Given the description of an element on the screen output the (x, y) to click on. 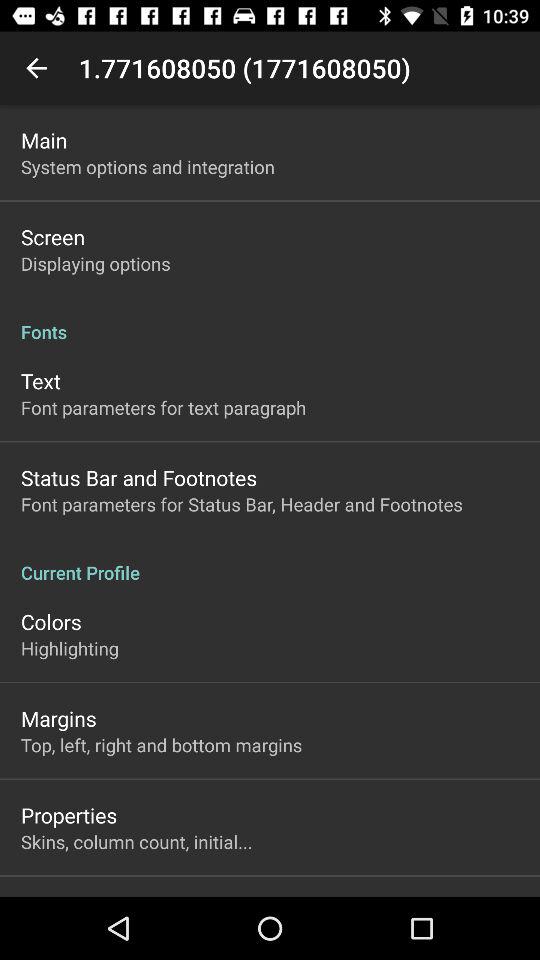
tap the icon below the font parameters for (270, 562)
